Given the description of an element on the screen output the (x, y) to click on. 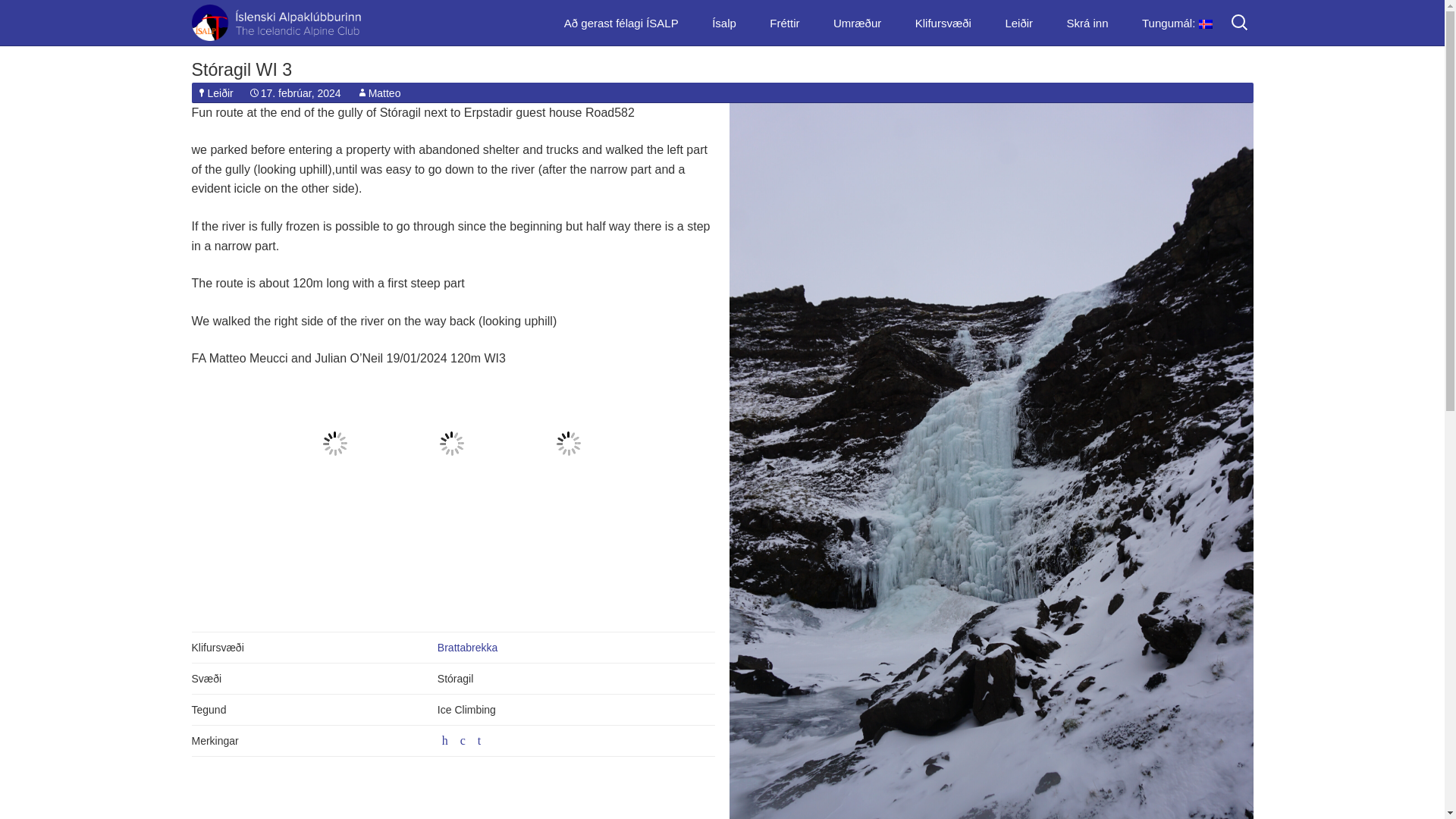
 English (1202, 102)
 Icelandic (1202, 64)
Matteo (378, 92)
Icelandic (1202, 64)
Leita (31, 14)
Icelandic (1176, 22)
English (1202, 102)
Brattabrekka (467, 647)
Algengar spurningar (772, 253)
